Given the description of an element on the screen output the (x, y) to click on. 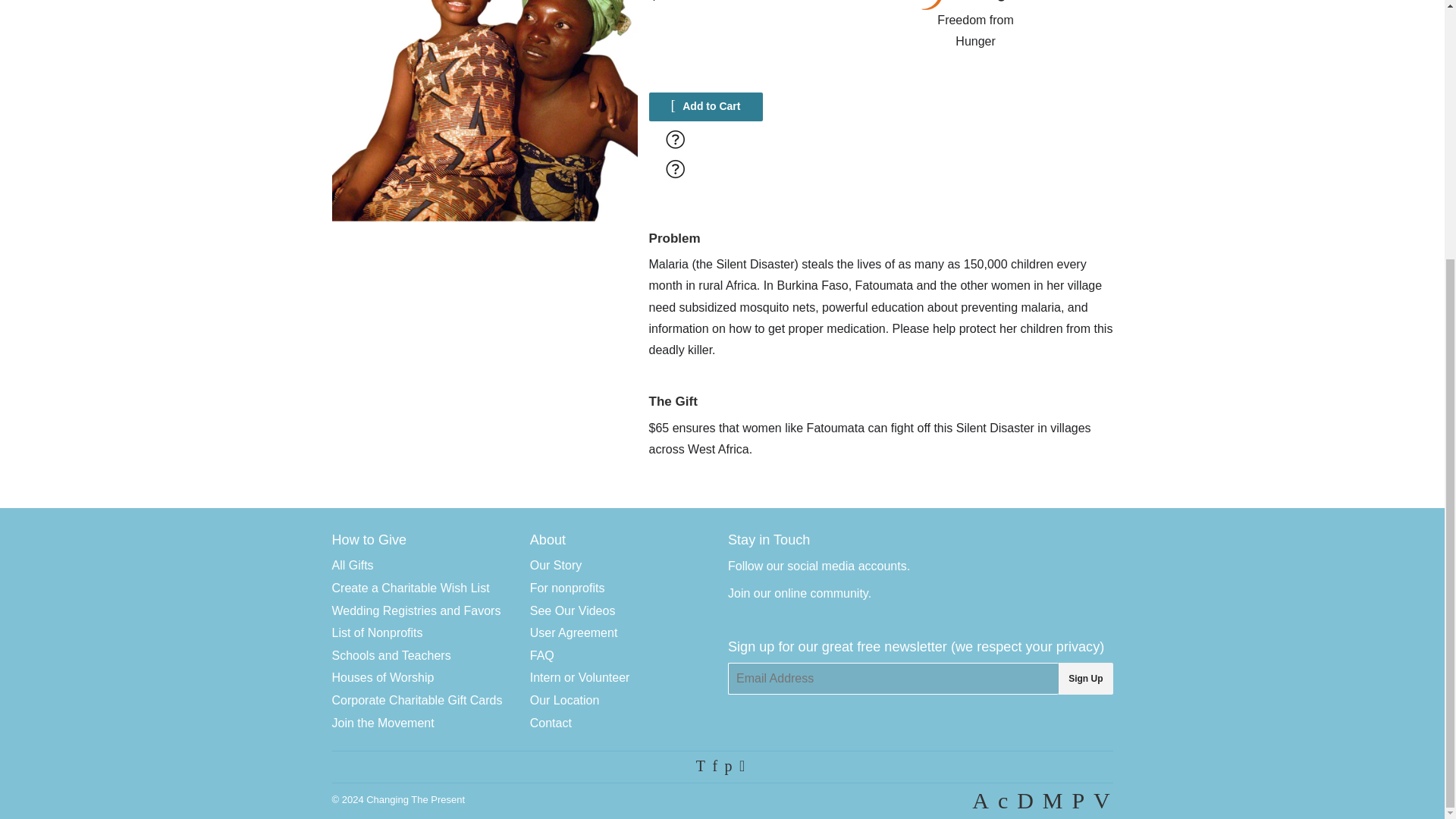
Social Media (837, 565)
